Given the description of an element on the screen output the (x, y) to click on. 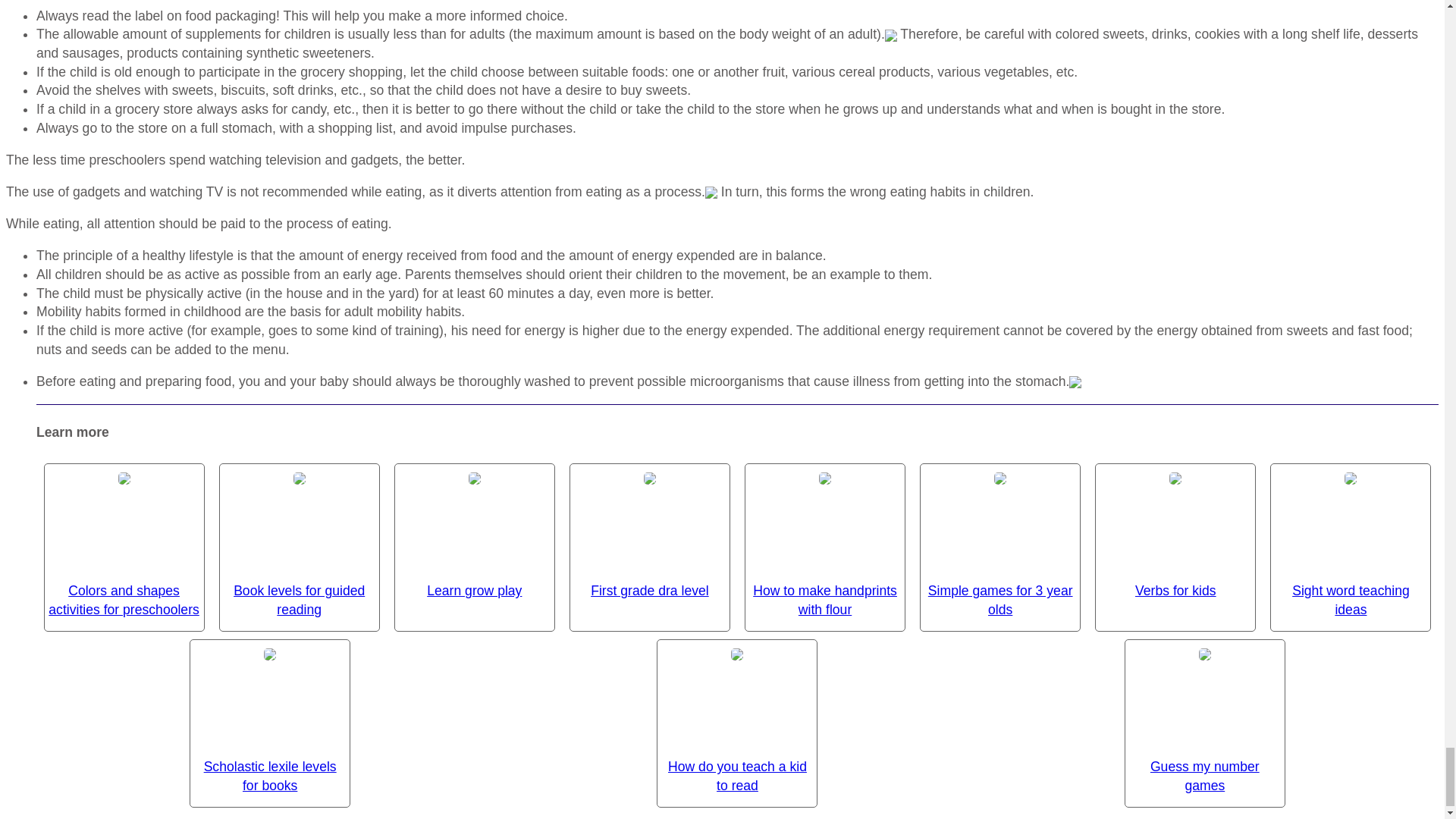
Sight word teaching ideas (1350, 542)
Verbs for kids (1174, 532)
Simple games for 3 year olds (999, 542)
Verbs for kids (1174, 532)
Book levels for guided reading (299, 542)
First grade dra level (649, 532)
Colors and shapes activities for preschoolers (124, 542)
Learn grow play (474, 532)
Learn grow play (474, 532)
Book levels for guided reading (299, 542)
Sight word teaching ideas (1350, 542)
How do you teach a kid to read (736, 718)
How do you teach a kid to read (736, 718)
First grade dra level (649, 532)
Guess my number games (1205, 718)
